Given the description of an element on the screen output the (x, y) to click on. 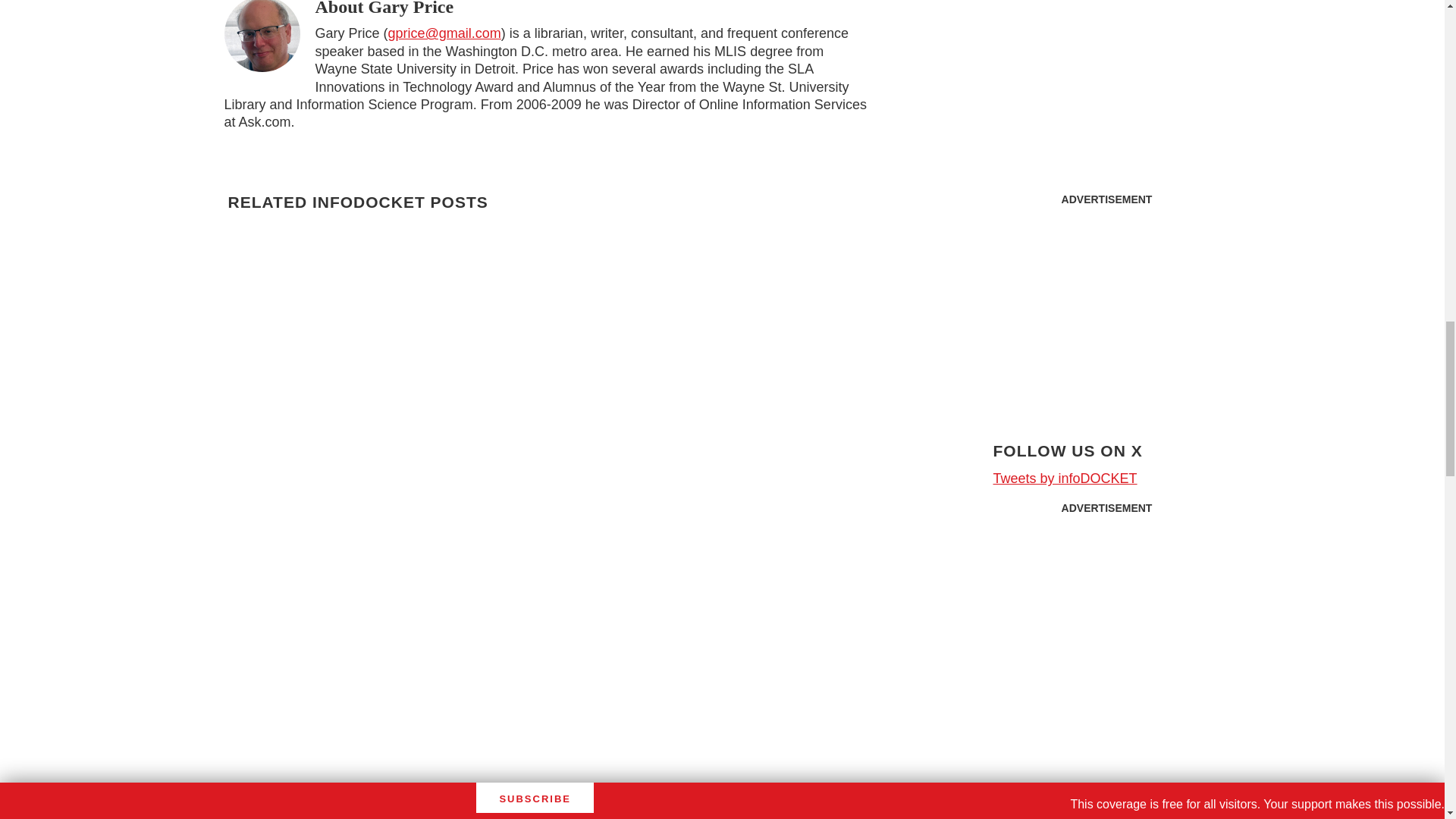
3rd party ad content (1106, 617)
3rd party ad content (1106, 308)
